Given the description of an element on the screen output the (x, y) to click on. 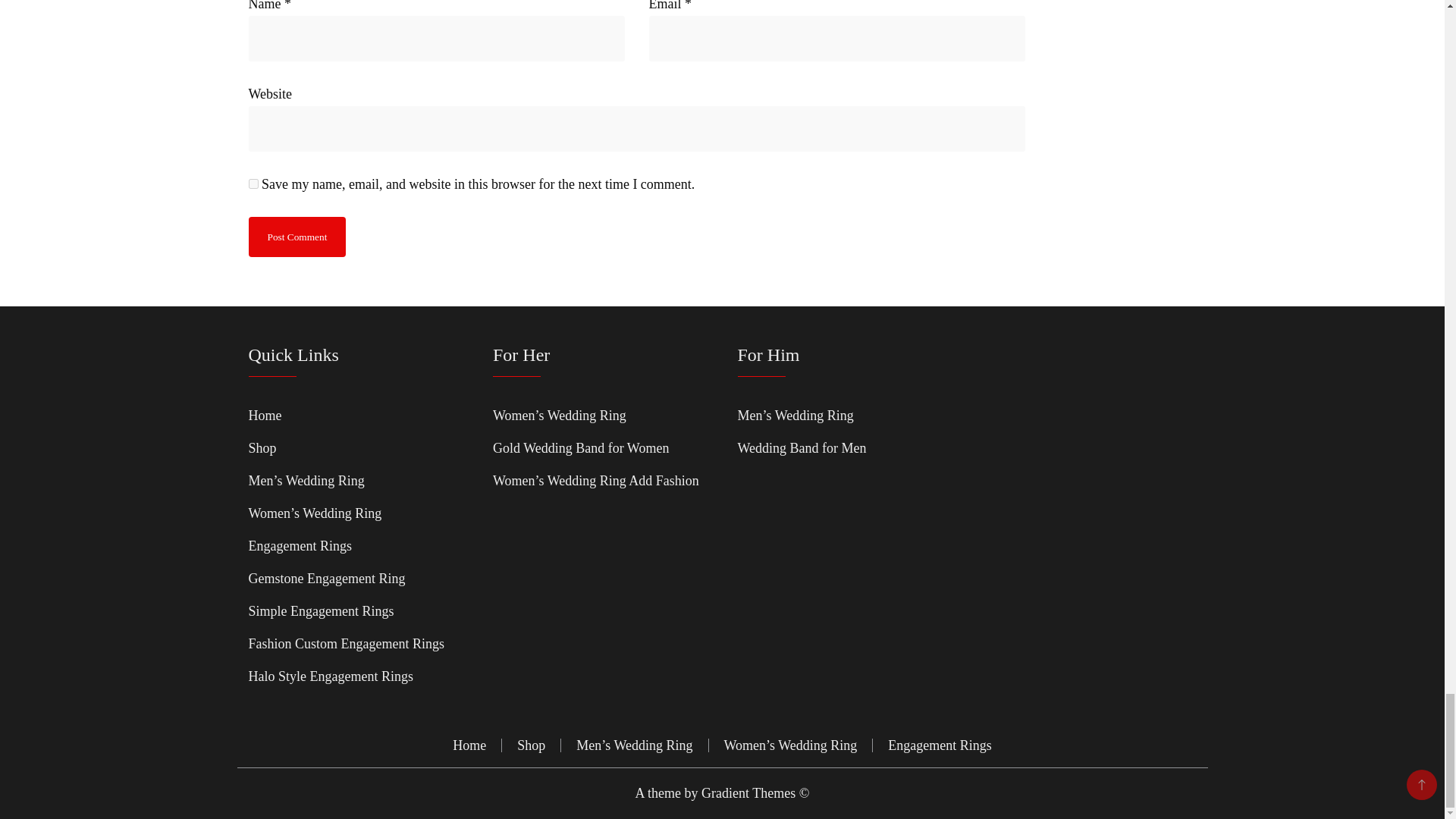
yes (253, 184)
Post Comment (297, 237)
